Given the description of an element on the screen output the (x, y) to click on. 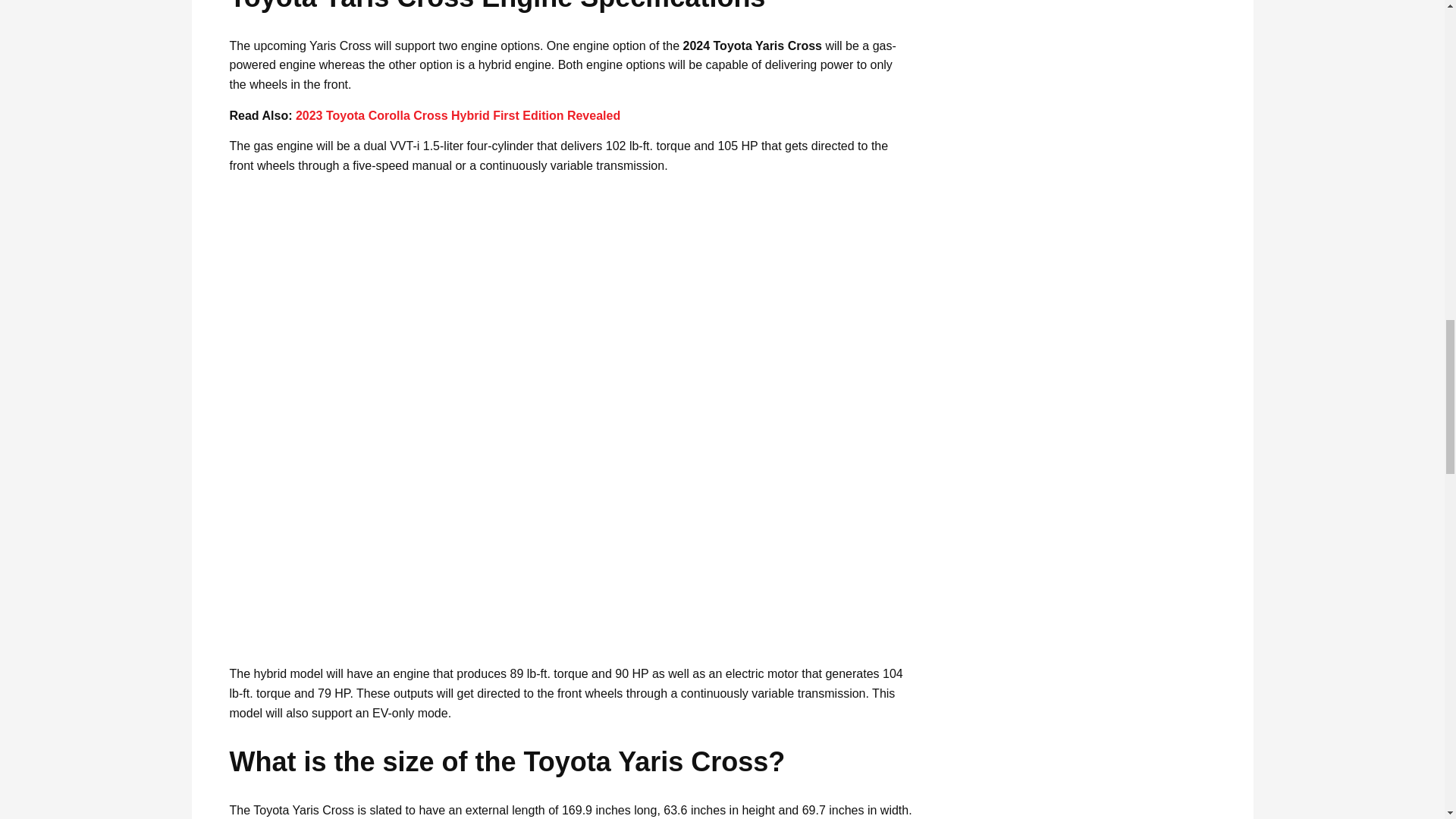
2023 Toyota Corolla Cross Hybrid First Edition Revealed (457, 115)
